Given the description of an element on the screen output the (x, y) to click on. 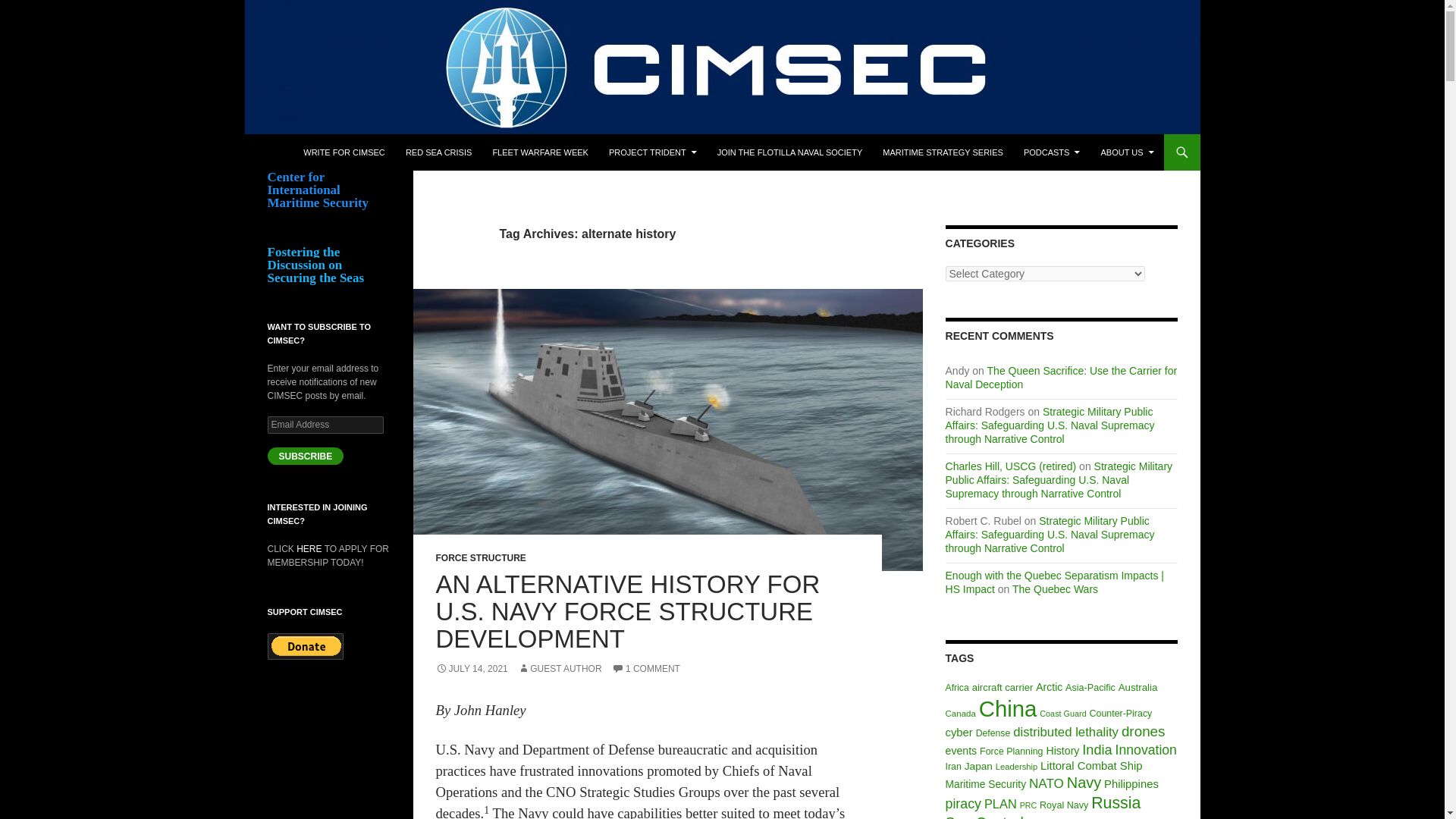
PROJECT TRIDENT (652, 152)
GUEST AUTHOR (559, 668)
ABOUT US (1125, 152)
FLEET WARFARE WEEK (539, 152)
PODCASTS (1051, 152)
Center for International Maritime Security (400, 152)
WRITE FOR CIMSEC (344, 152)
JOIN THE FLOTILLA NAVAL SOCIETY (789, 152)
MARITIME STRATEGY SERIES (942, 152)
1 COMMENT (645, 668)
FORCE STRUCTURE (480, 557)
The Queen Sacrifice: Use the Carrier for Naval Deception (1060, 377)
